Given the description of an element on the screen output the (x, y) to click on. 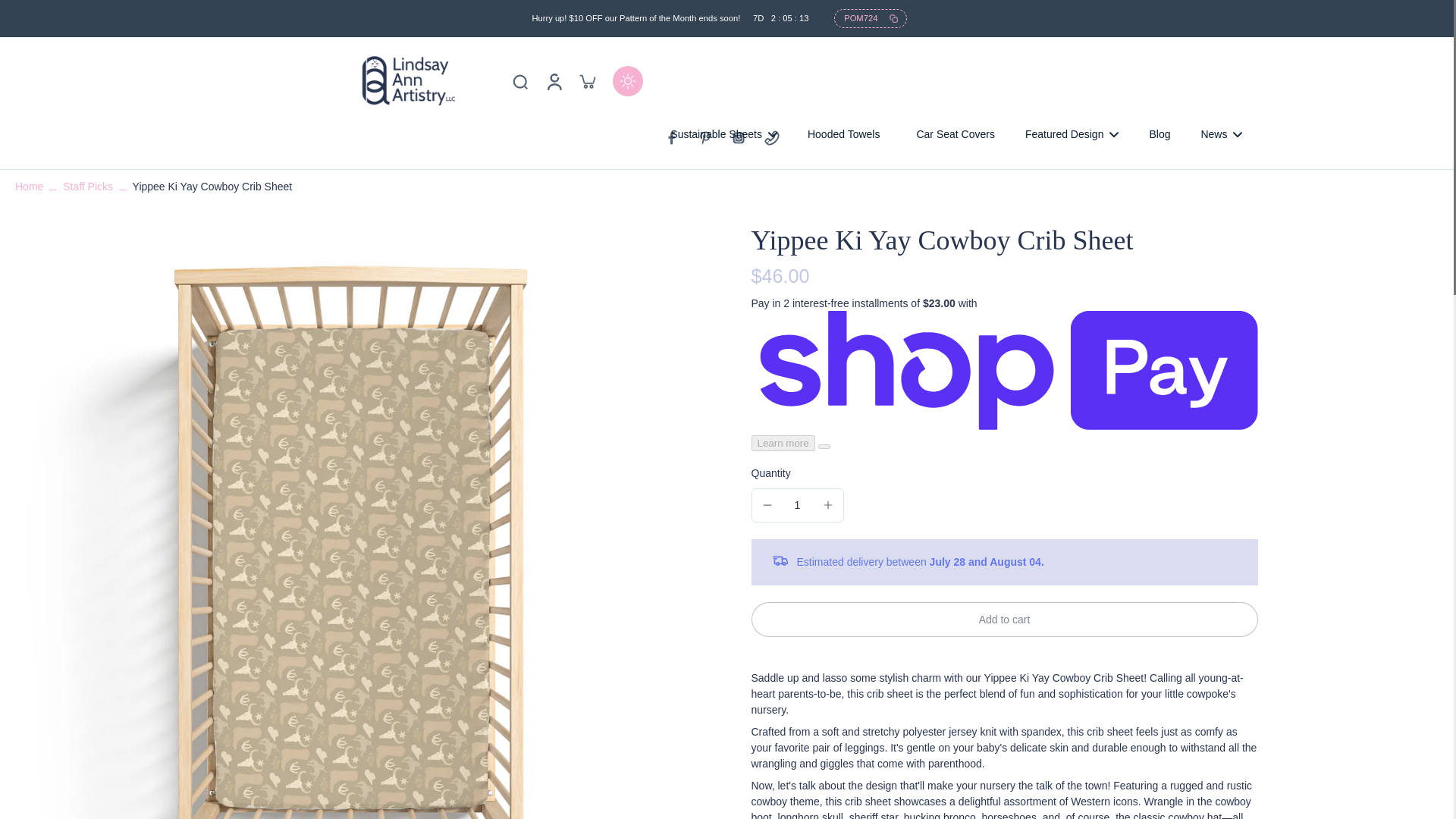
POM724 (869, 18)
Featured Design (1072, 134)
Staff Picks (87, 186)
Sustainable Sheets (723, 134)
1 (797, 505)
Hooded Towels (843, 134)
Copy code (869, 18)
Skip to content (19, 10)
Home (28, 186)
News (1220, 134)
Car Seat Covers (954, 134)
Blog (1159, 134)
